Given the description of an element on the screen output the (x, y) to click on. 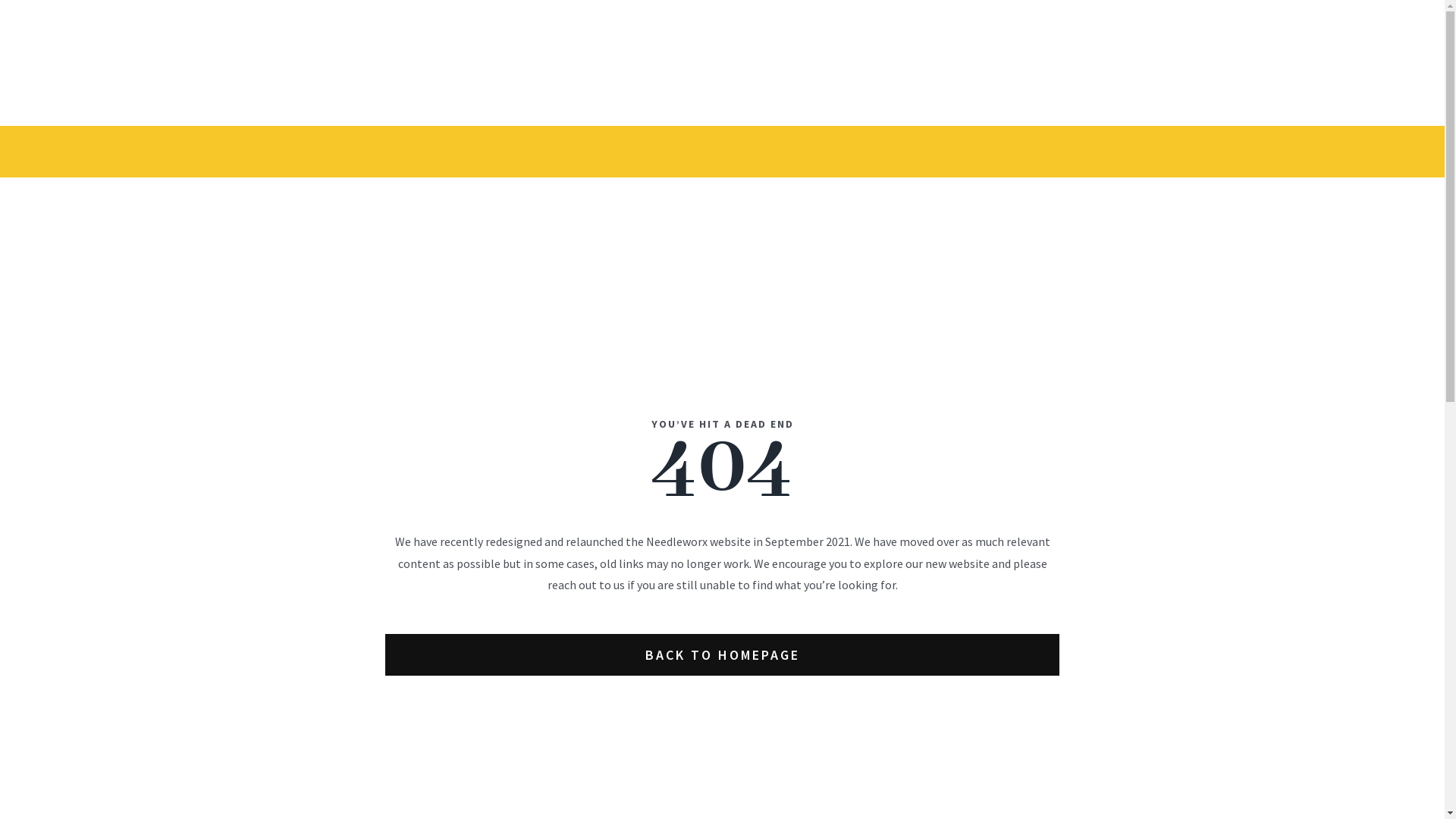
BACK TO HOMEPAGE Element type: text (721, 654)
